Given the description of an element on the screen output the (x, y) to click on. 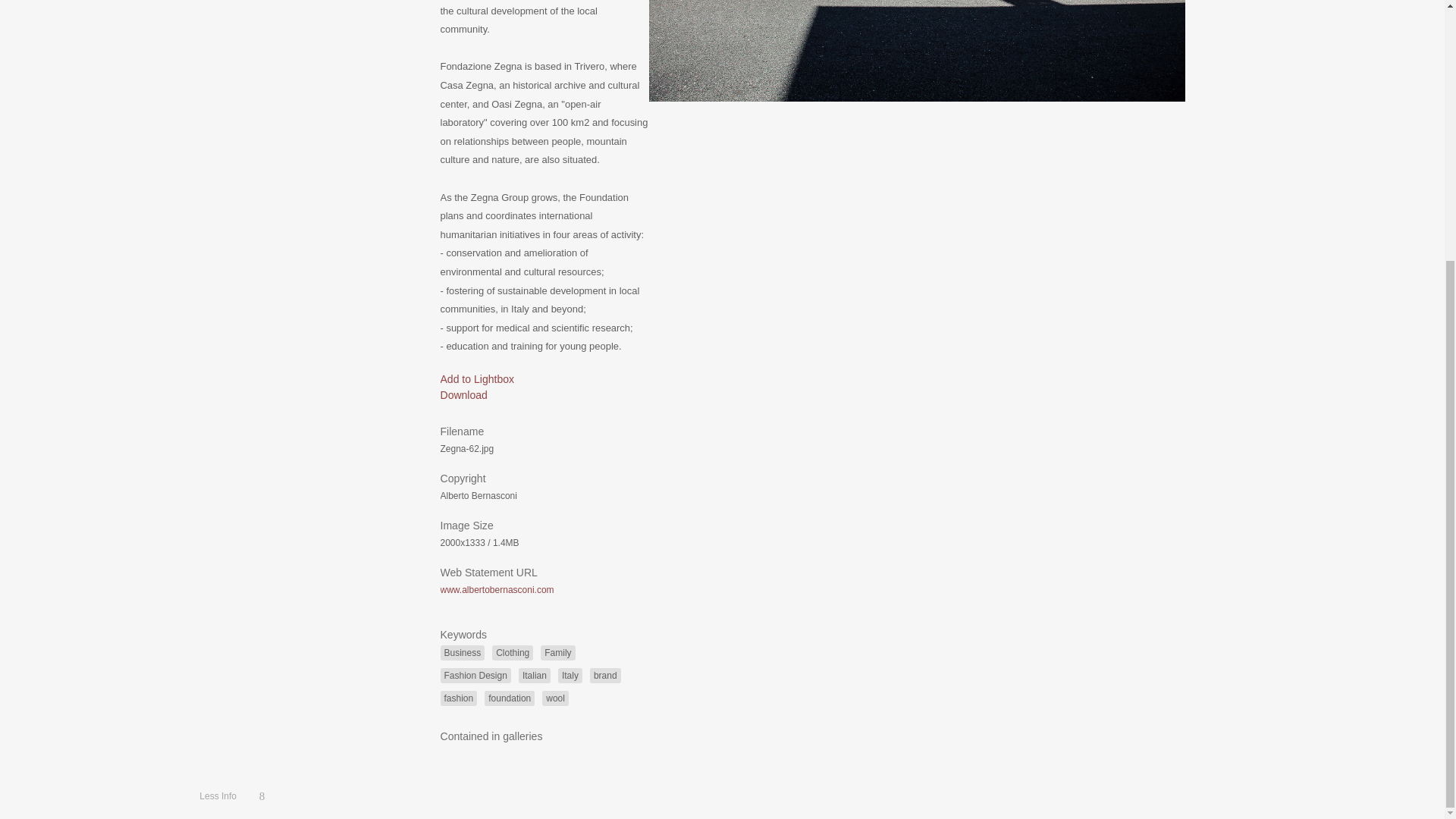
Family (557, 652)
Fashion Design (475, 675)
Add to Lightbox (476, 379)
fashion (458, 698)
Italy (569, 675)
Business (461, 652)
brand (605, 675)
Download (462, 395)
Clothing (512, 652)
Share This (260, 422)
foundation (509, 698)
Italian (534, 675)
x (260, 422)
wool (555, 698)
www.albertobernasconi.com (496, 589)
